Given the description of an element on the screen output the (x, y) to click on. 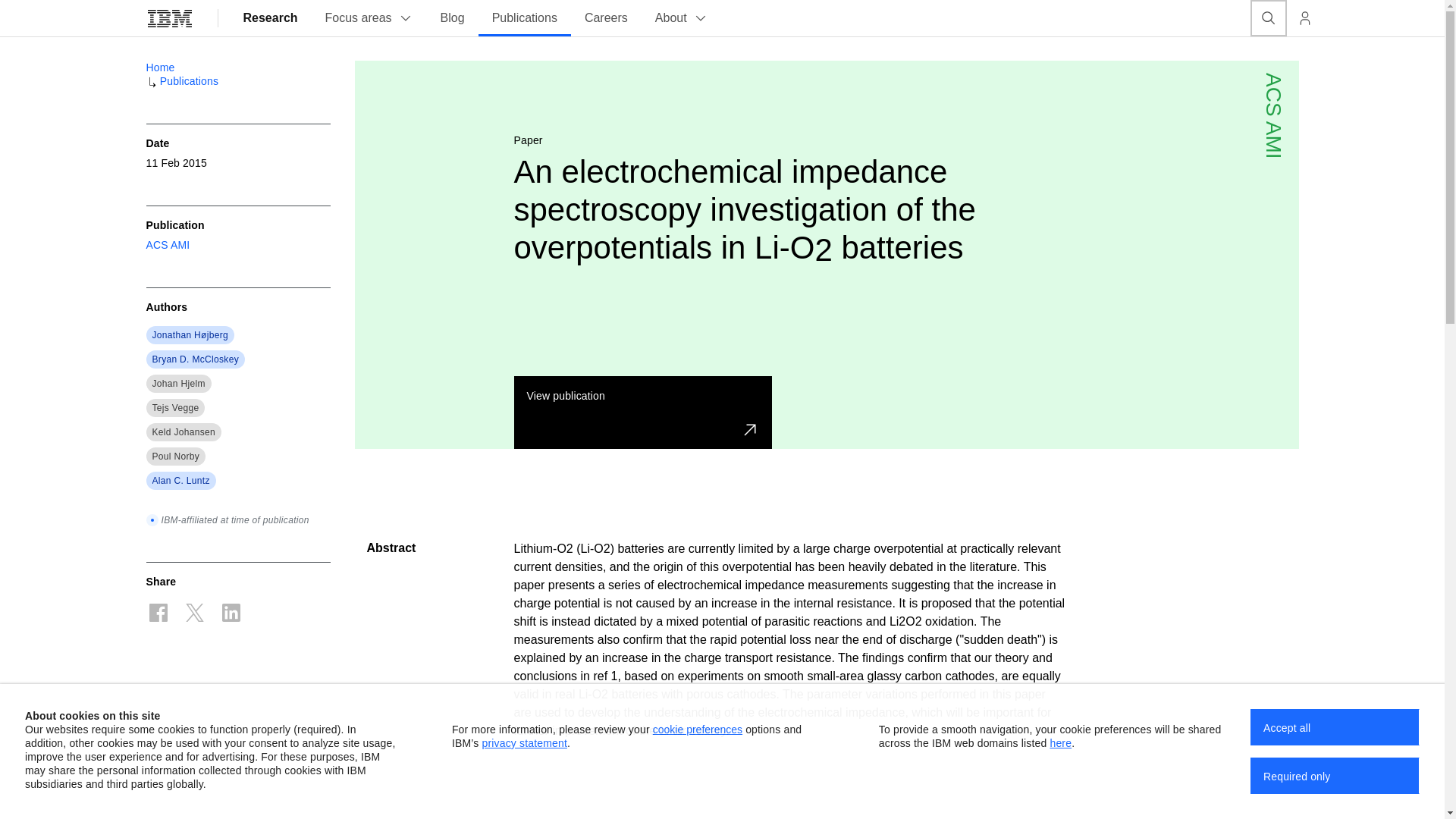
Alan C. Luntz (180, 480)
Johan Hjelm (178, 383)
Bryan D. McCloskey (194, 358)
Poul Norby (175, 456)
Keld Johansen (183, 431)
Tejs Vegge (174, 408)
